Given the description of an element on the screen output the (x, y) to click on. 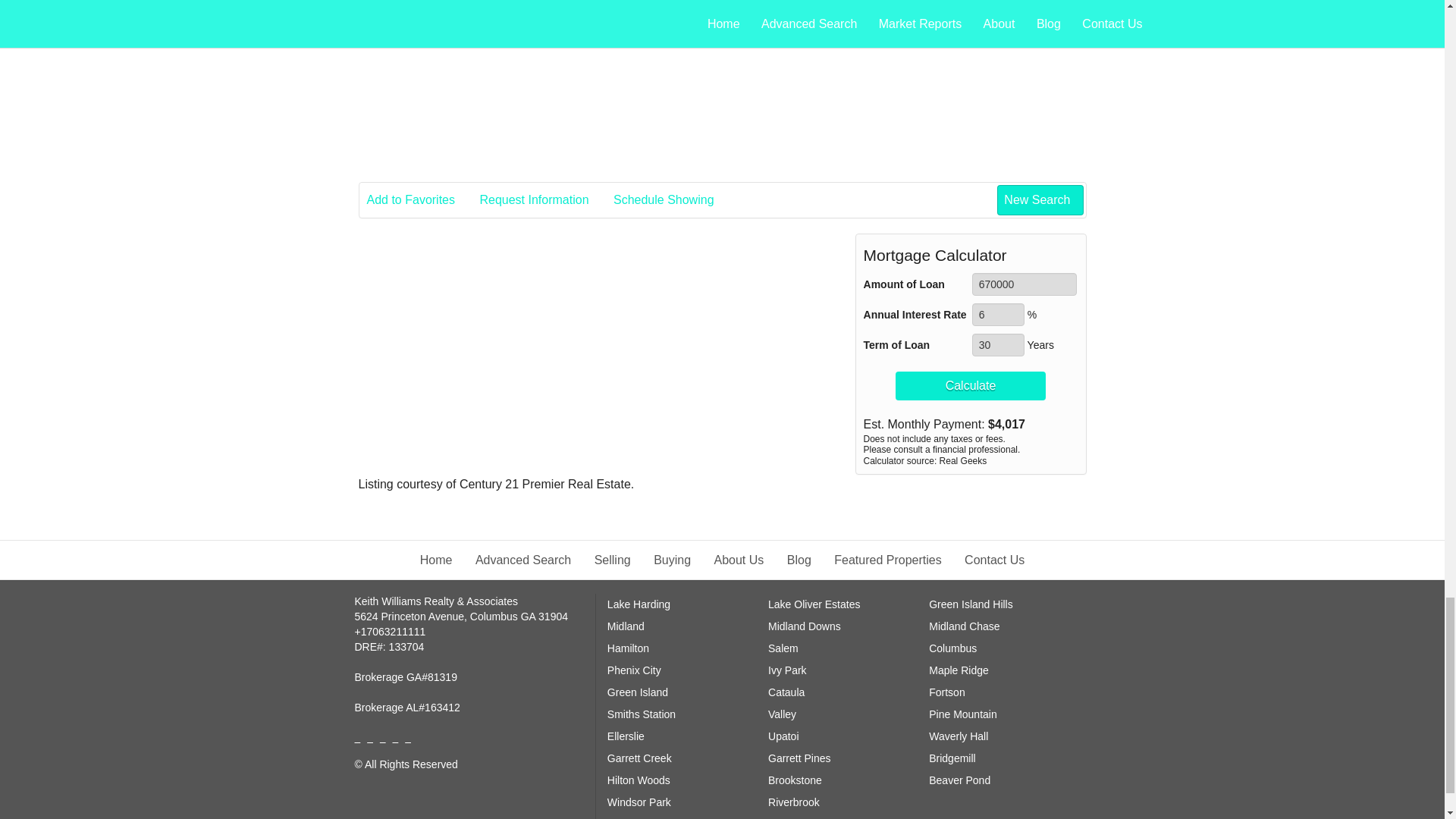
30 (998, 344)
6 (998, 314)
670000 (1024, 283)
